Given the description of an element on the screen output the (x, y) to click on. 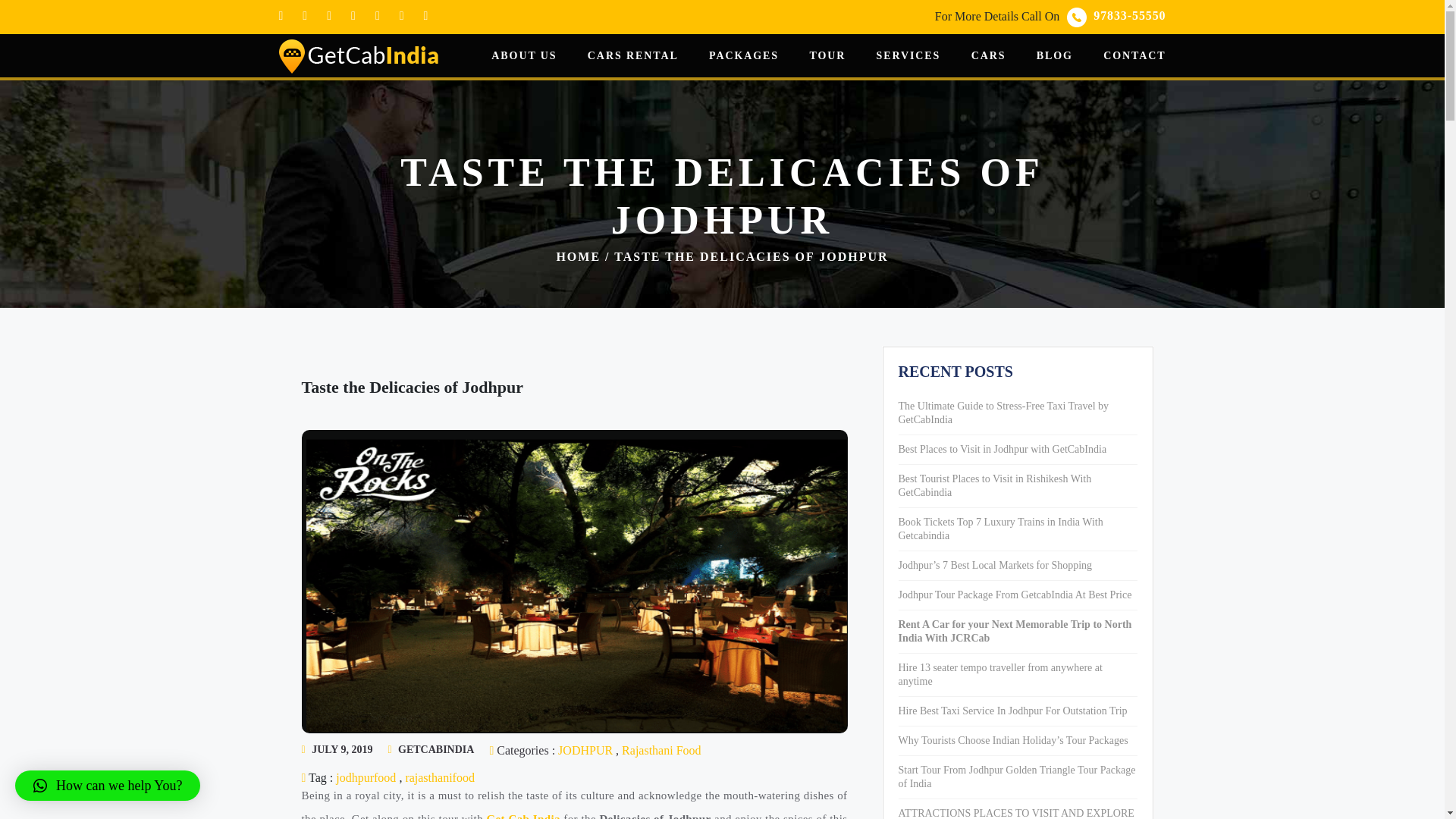
PACKAGES (743, 55)
wikipedia (1127, 15)
pinterest (377, 15)
linkedin (401, 15)
GetCabIndia (352, 15)
97833-55550 (358, 55)
BLOG (1127, 15)
SERVICES (1054, 55)
CARS (908, 55)
jodhpurfood (988, 55)
GetCabIndia (367, 777)
TOUR (358, 55)
twitter (827, 55)
CARS RENTAL (304, 15)
